Given the description of an element on the screen output the (x, y) to click on. 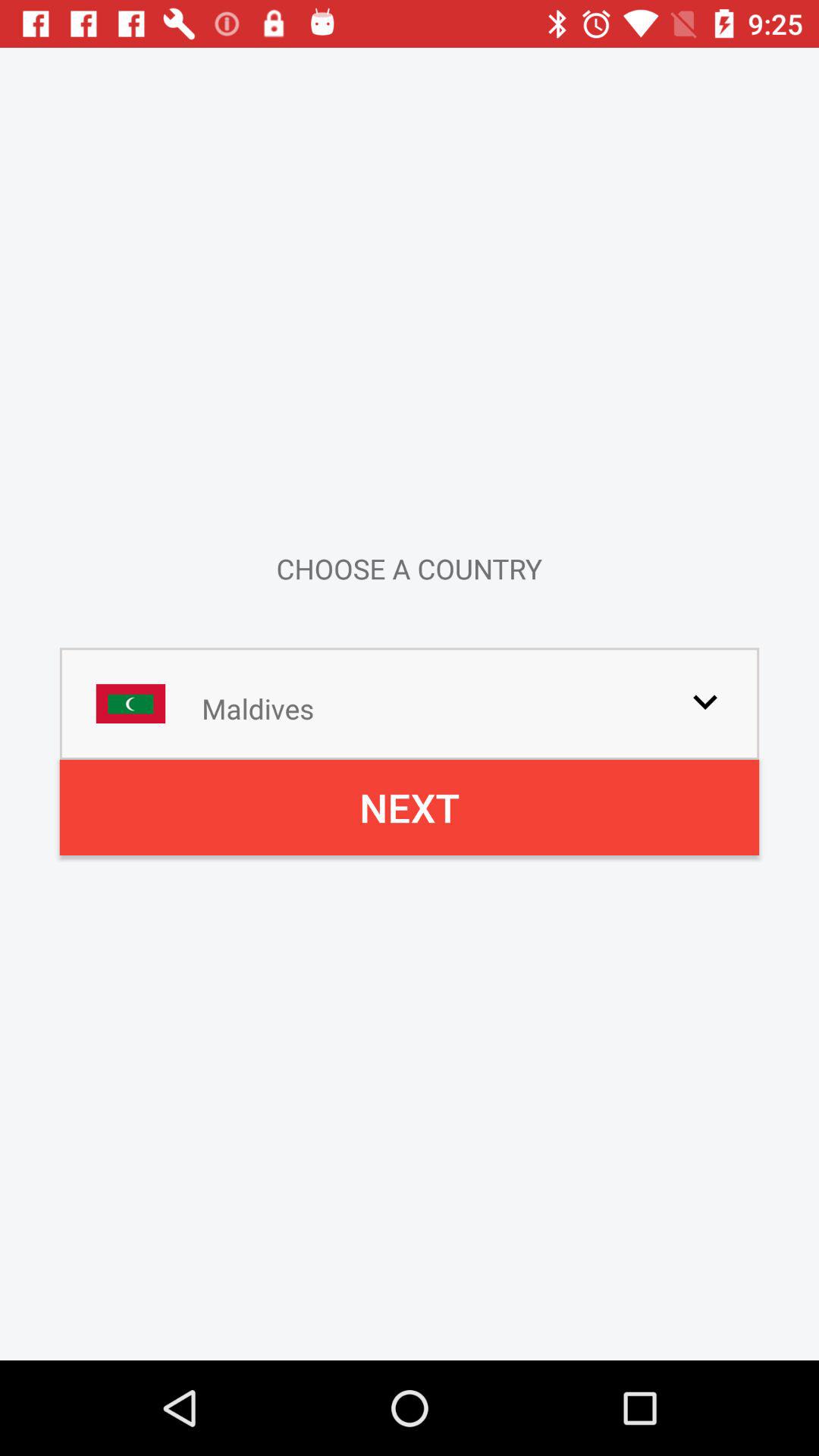
tap next icon (409, 807)
